Given the description of an element on the screen output the (x, y) to click on. 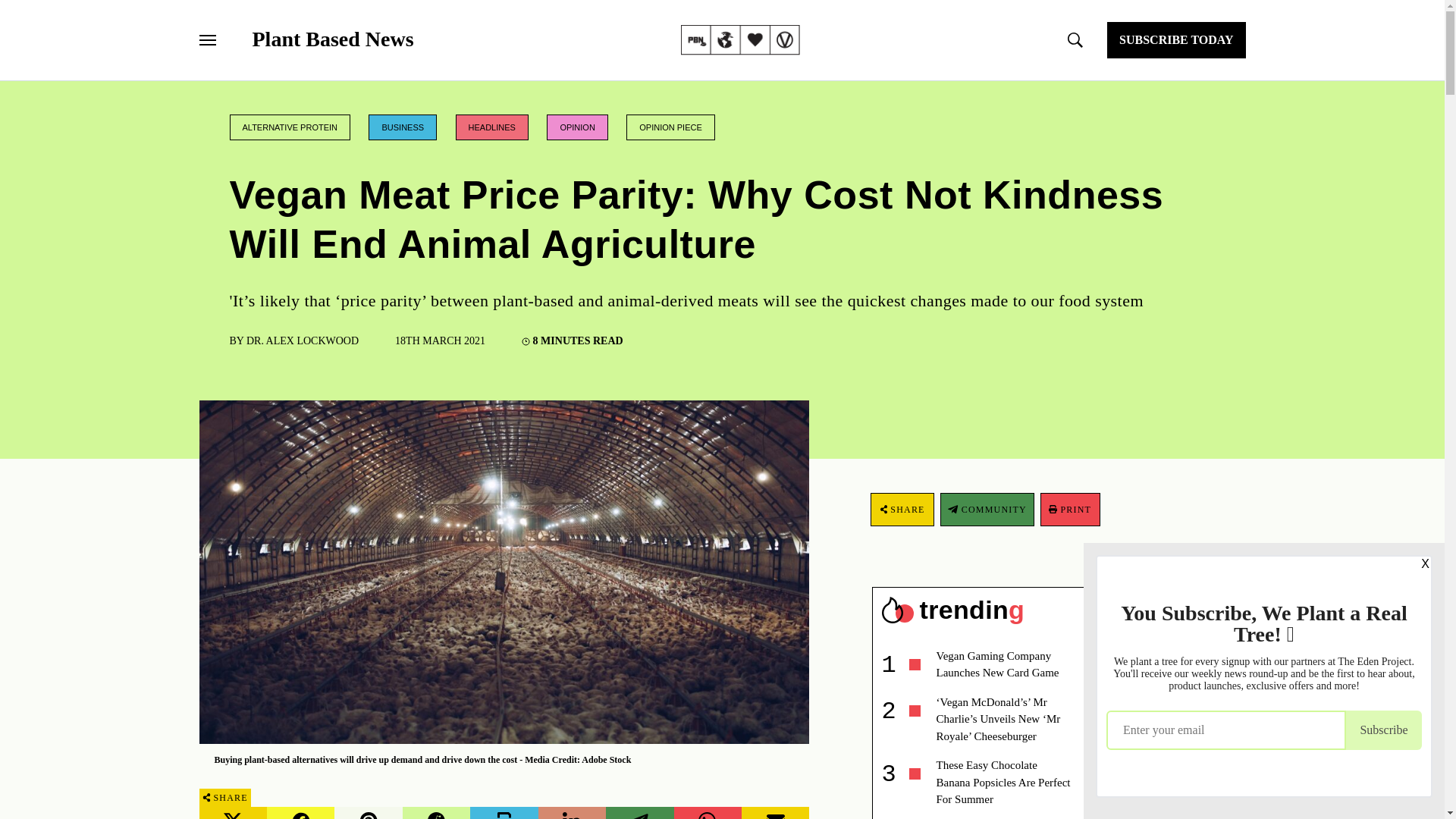
DR. ALEX LOCKWOOD (302, 340)
OPINION (577, 127)
ALTERNATIVE PROTEIN (289, 127)
SUBSCRIBE TODAY (1175, 40)
HEADLINES (491, 127)
BUSINESS (402, 127)
Posts by Dr. Alex Lockwood (302, 340)
OPINION PIECE (670, 127)
Plant Based News (332, 39)
